Given the description of an element on the screen output the (x, y) to click on. 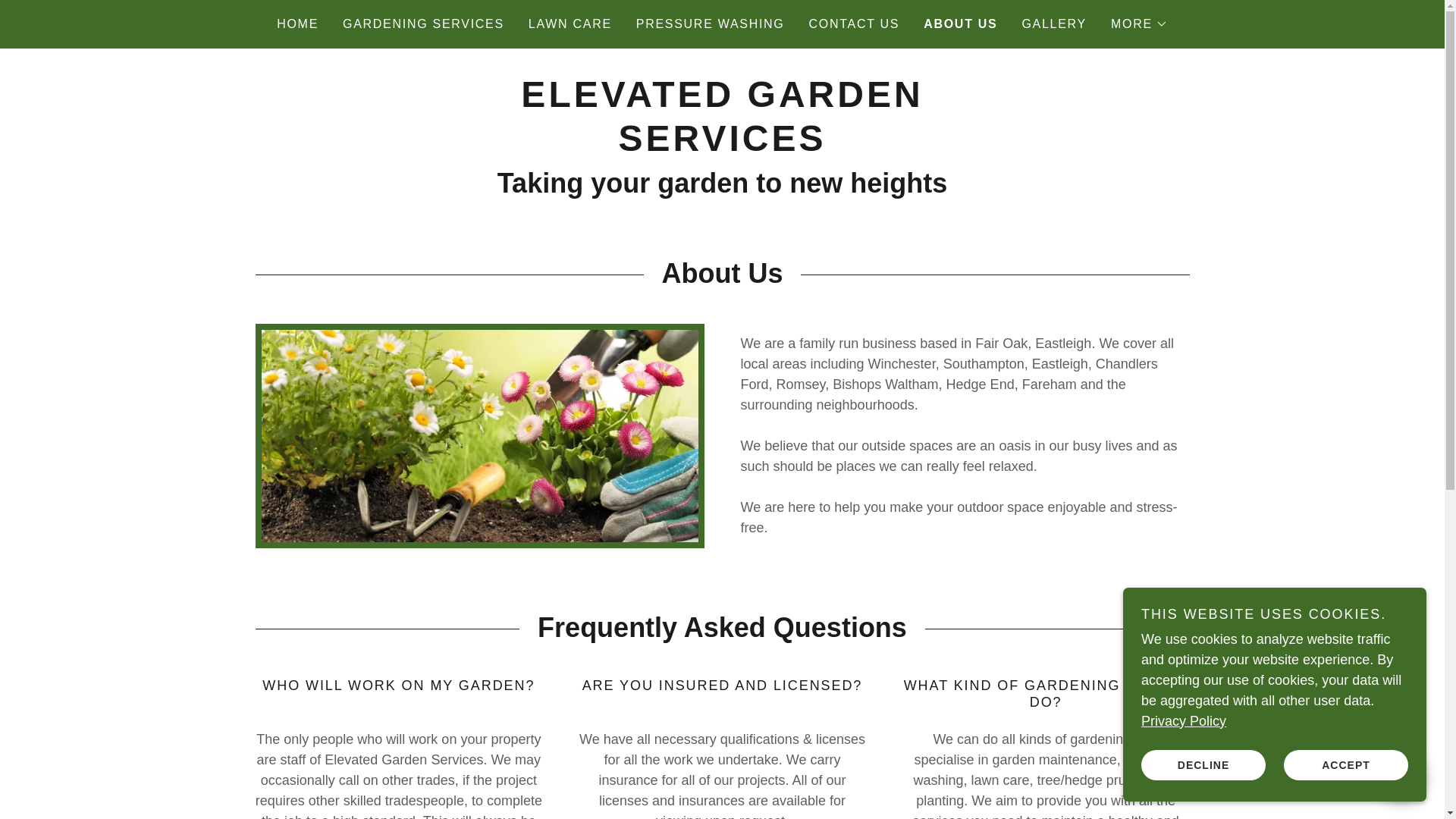
GARDENING SERVICES (422, 23)
PRESSURE WASHING (710, 23)
GALLERY (1053, 23)
ABOUT US (960, 24)
LAWN CARE (569, 23)
ELEVATED GARDEN SERVICES (721, 145)
MORE (1138, 24)
HOME (297, 23)
ELEVATED GARDEN SERVICES (721, 145)
CONTACT US (854, 23)
